Given the description of an element on the screen output the (x, y) to click on. 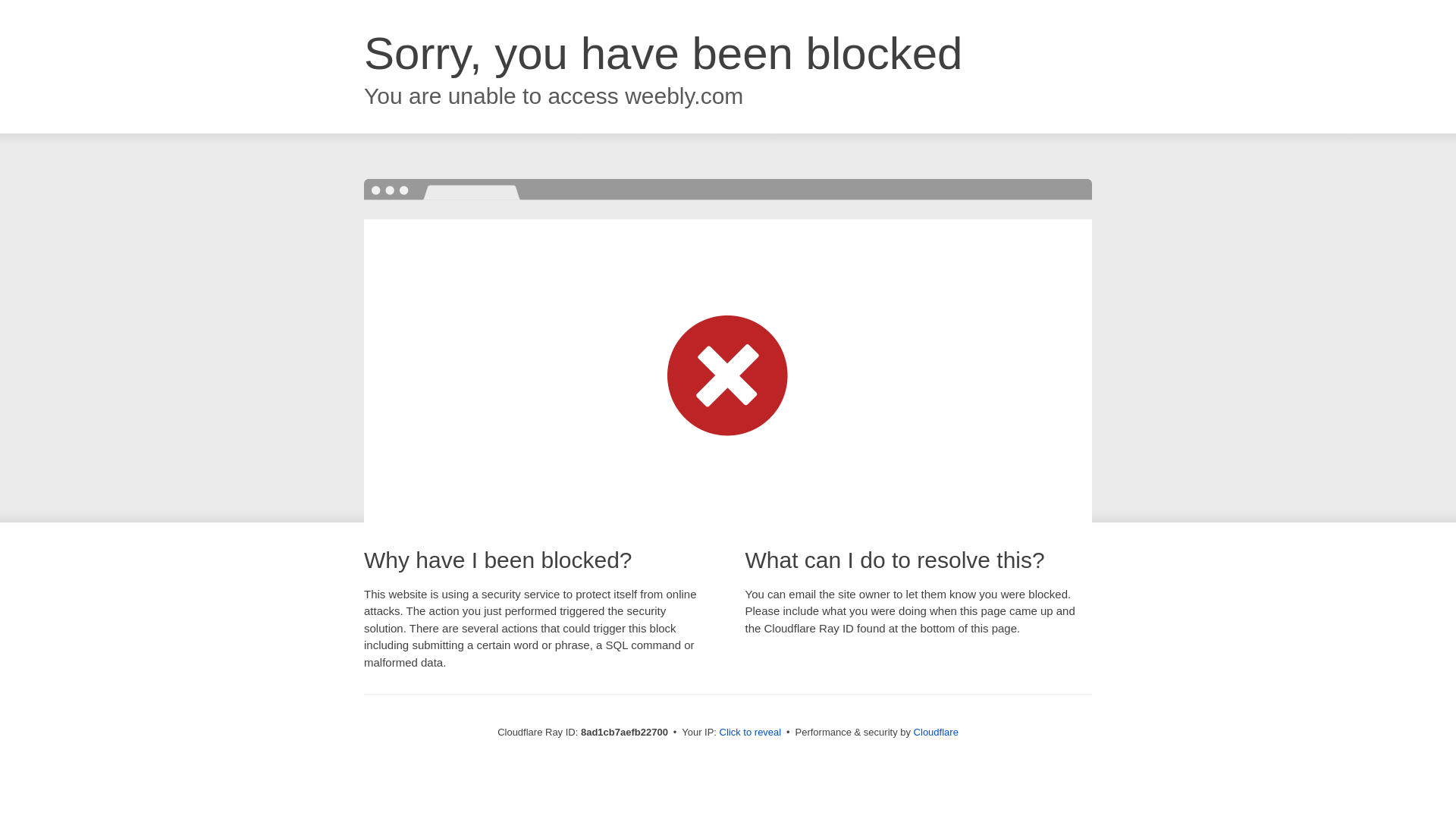
Cloudflare (936, 731)
Click to reveal (750, 732)
